Given the description of an element on the screen output the (x, y) to click on. 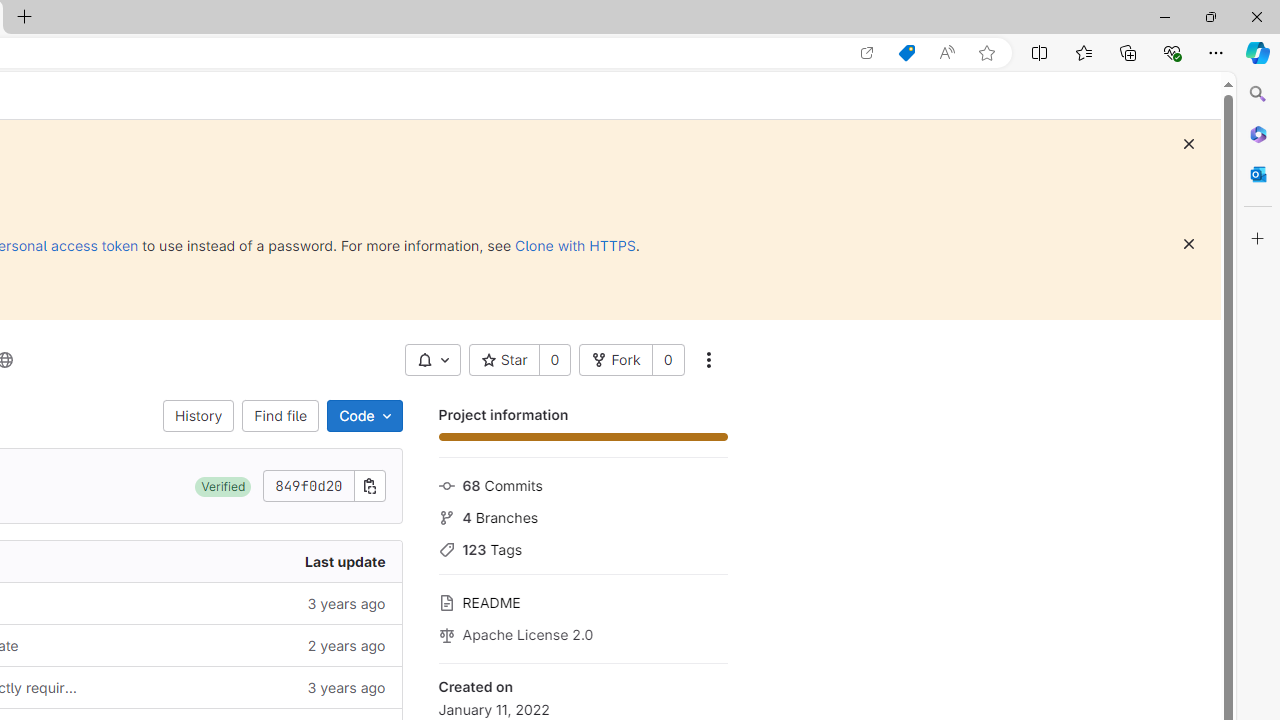
68 Commits (582, 484)
0 (667, 359)
Clone with HTTPS (575, 245)
More actions (708, 359)
Apache License 2.0 (582, 633)
4 Branches (582, 515)
Code (364, 416)
Dismiss (1188, 243)
Class: s16 gl-icon gl-button-icon  (1188, 243)
Copy commit SHA (369, 485)
README (582, 600)
